Given the description of an element on the screen output the (x, y) to click on. 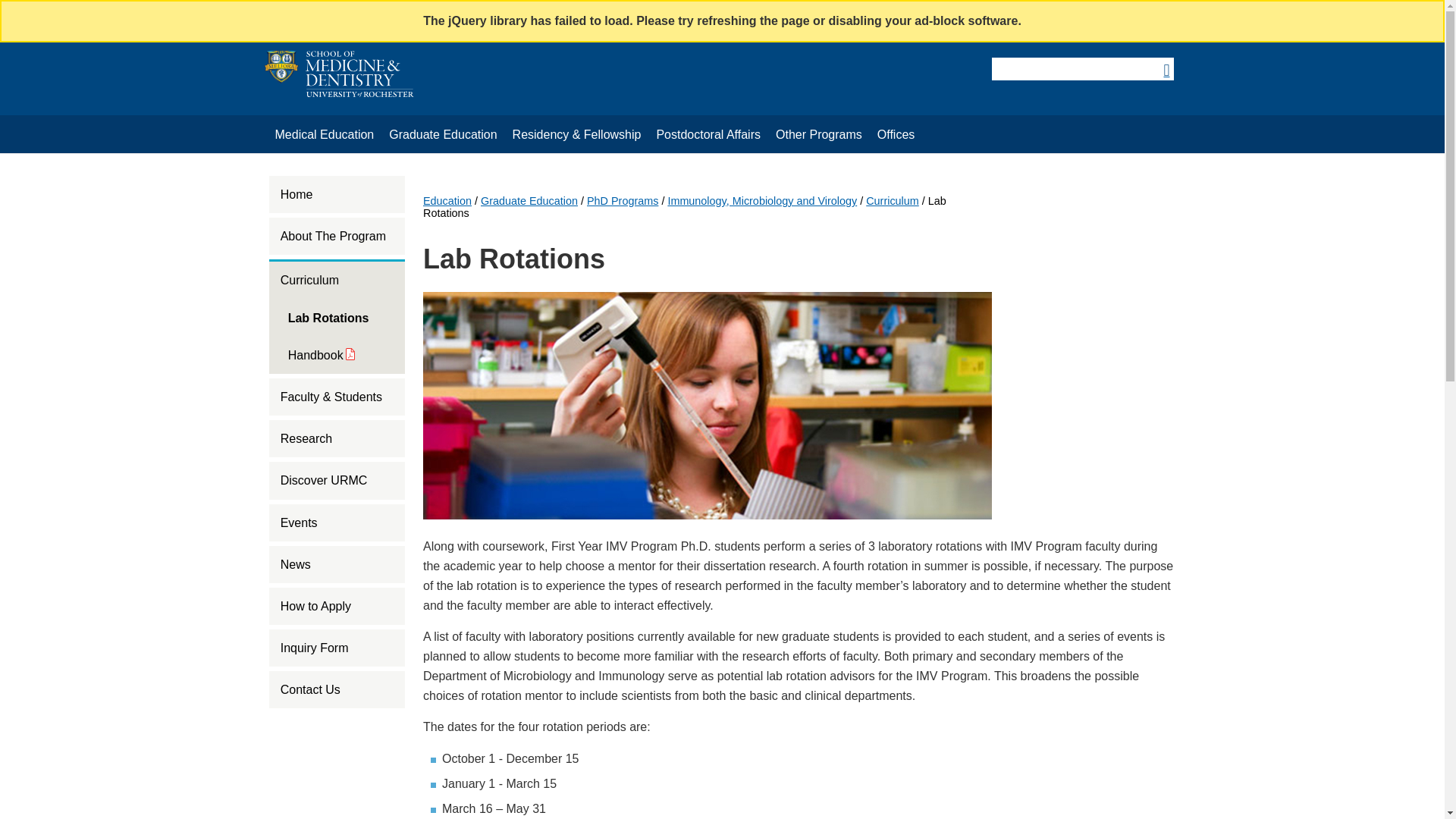
Search URMC (1080, 68)
Medical Education (323, 135)
Graduate Education Programs (442, 135)
Graduate Education (442, 135)
Postdoctoral Affairs (707, 135)
Medical Education (323, 135)
